Given the description of an element on the screen output the (x, y) to click on. 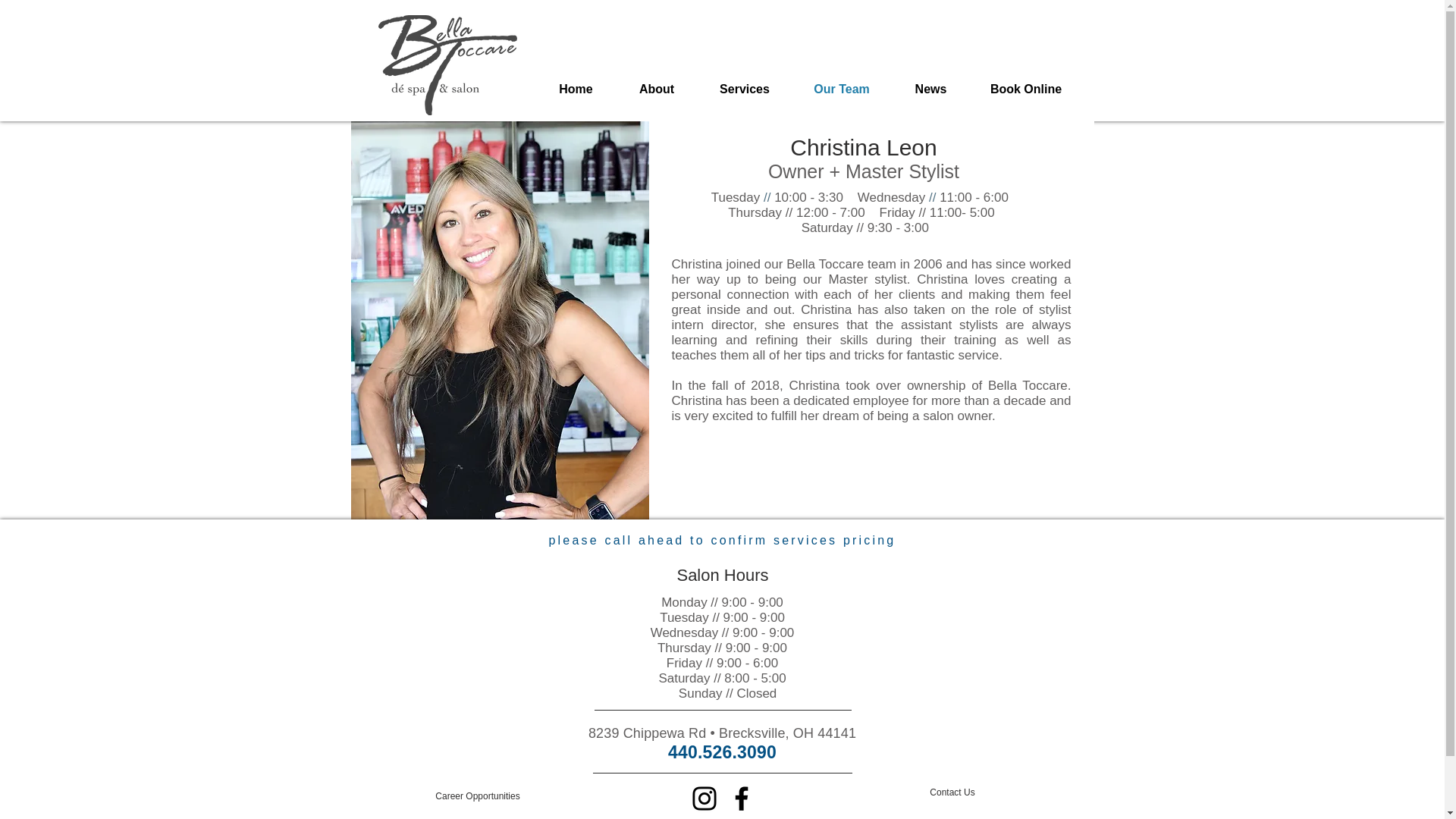
440.526.3090 (722, 752)
Contact Us (952, 792)
Book Online (1026, 88)
Our Team (841, 88)
Career Opportunities (477, 796)
 please call ahead to confirm services pricing  (722, 540)
News (931, 88)
Home (575, 88)
